Given the description of an element on the screen output the (x, y) to click on. 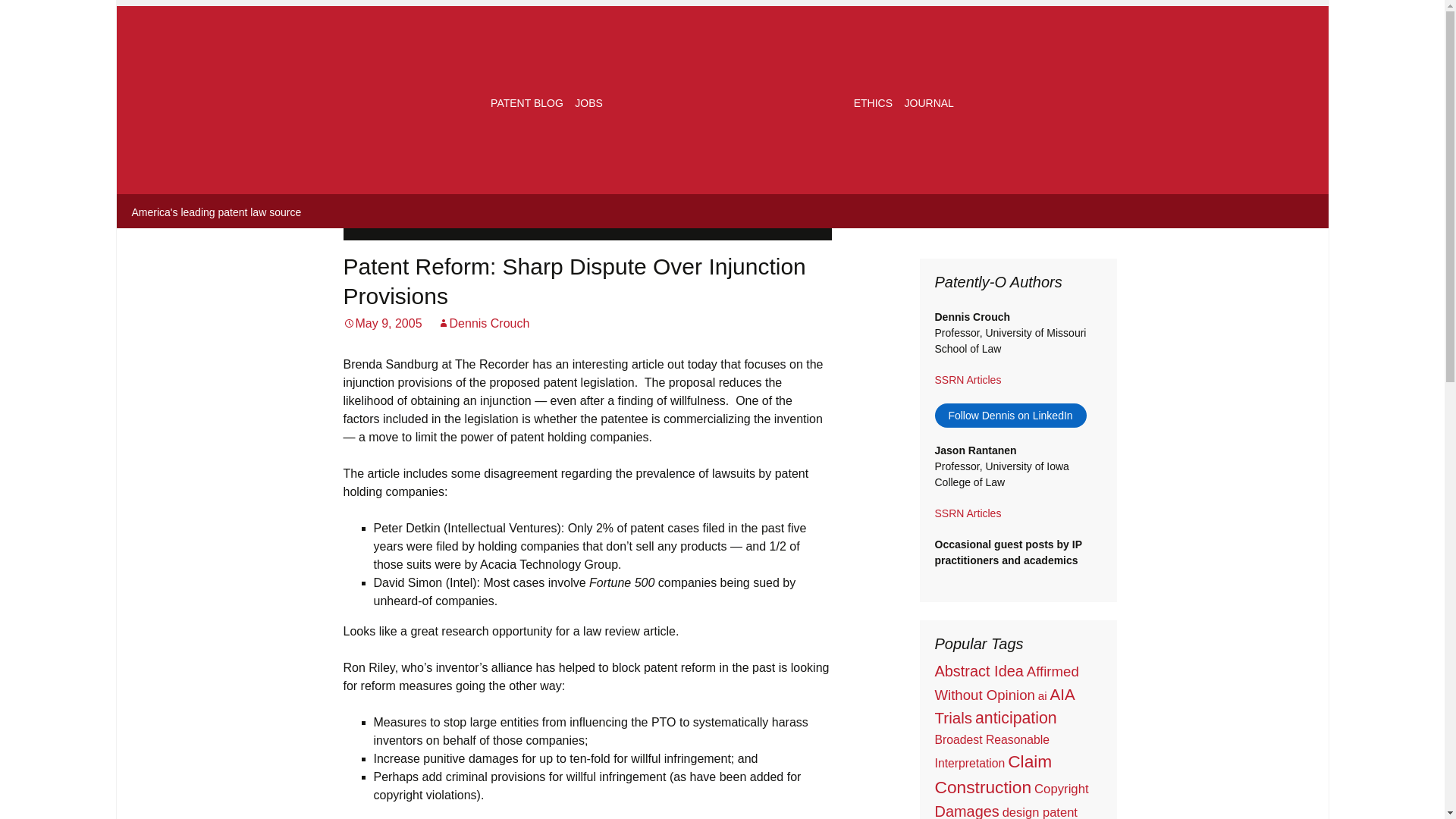
Follow Dennis on LinkedIn (1010, 415)
SSRN Articles (967, 512)
anticipation (1016, 718)
May 9, 2005 (382, 323)
Dennis Crouch (483, 323)
Claim Construction (992, 773)
Damages (966, 811)
ETHICS (872, 102)
Abstract Idea (978, 670)
